Given the description of an element on the screen output the (x, y) to click on. 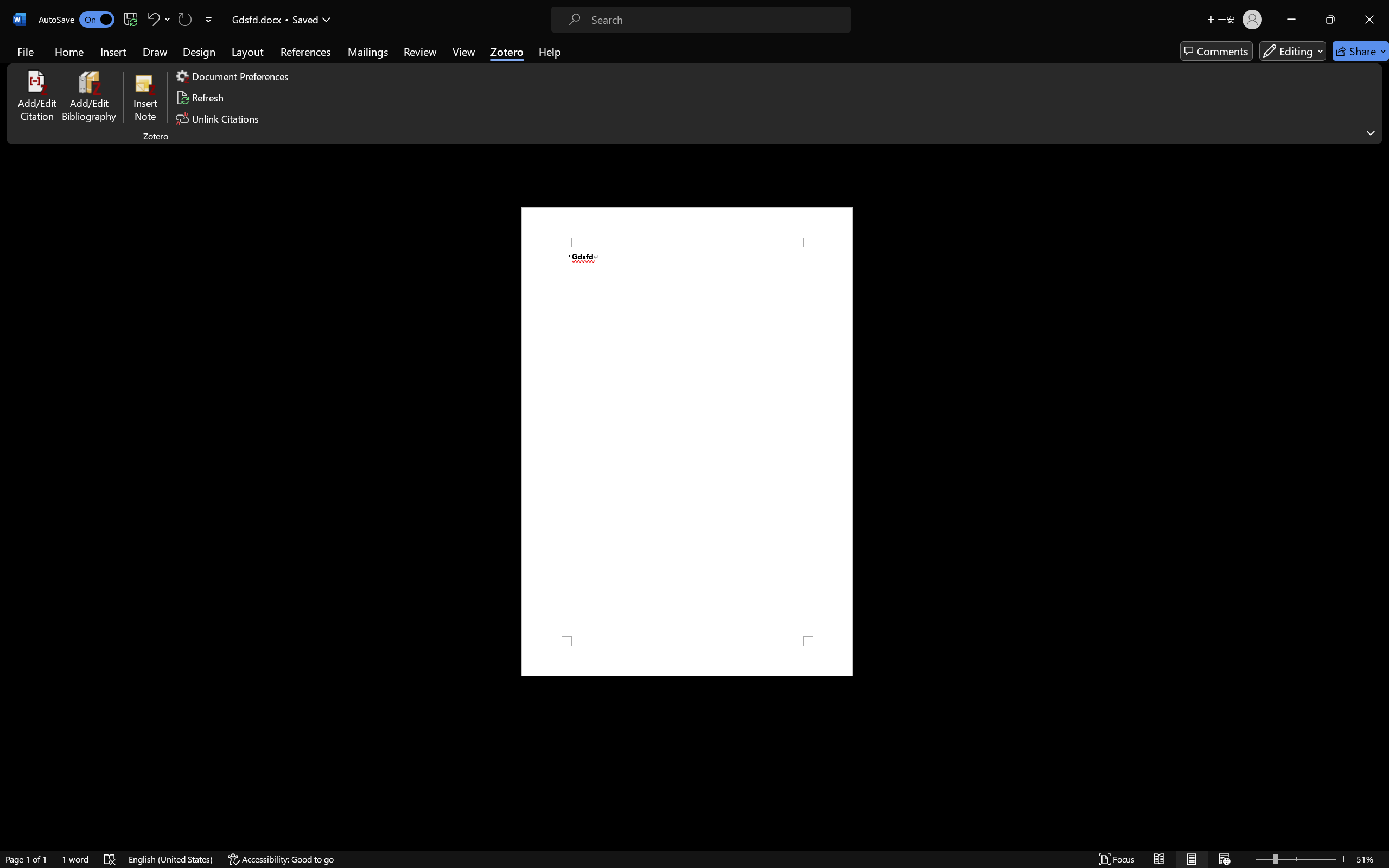
Page 1 content (686, 441)
